Given the description of an element on the screen output the (x, y) to click on. 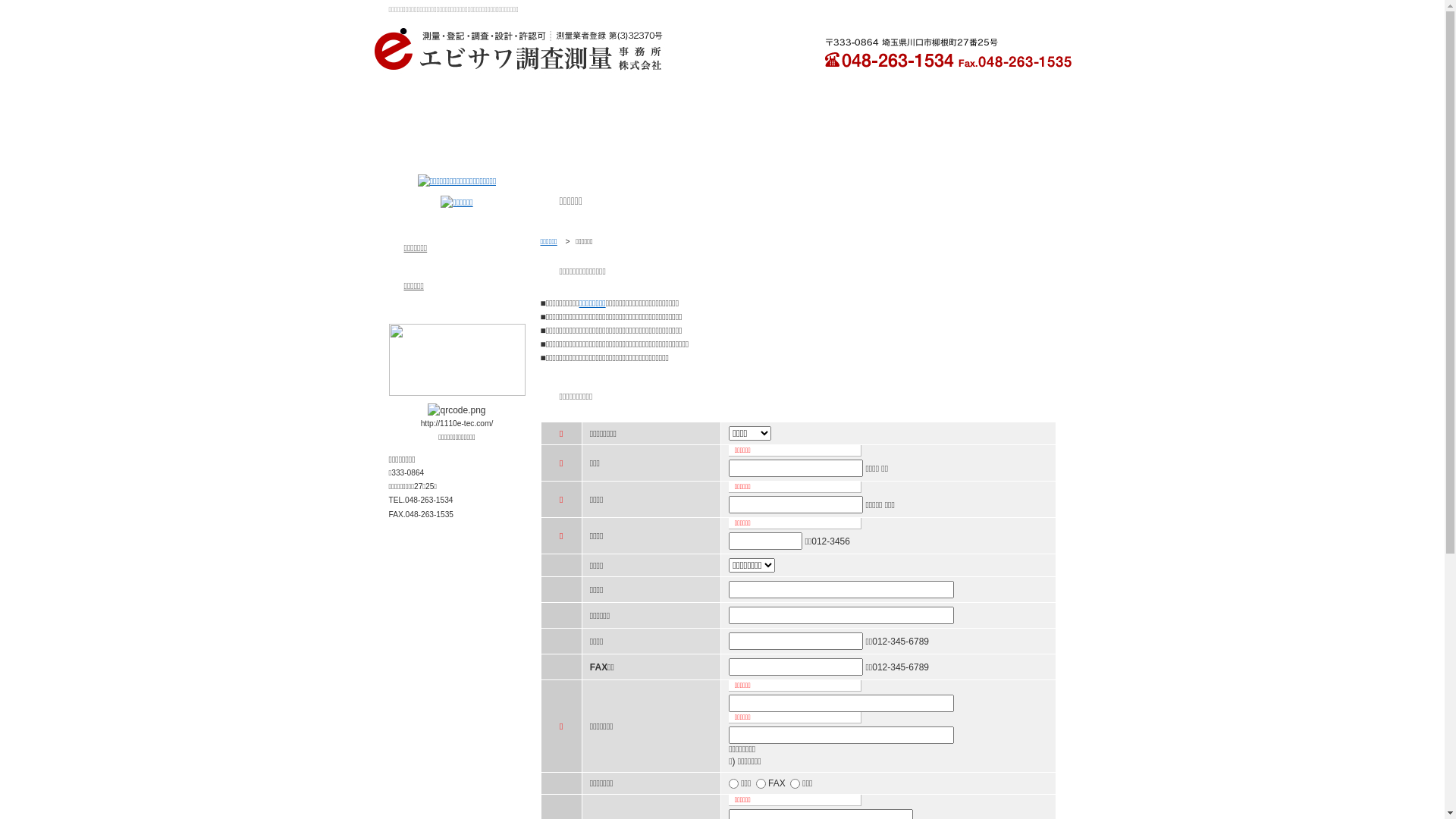
  Element type: text (442, 119)
  Element type: text (1000, 119)
  Element type: text (861, 119)
  Element type: text (582, 119)
  Element type: text (721, 119)
